Given the description of an element on the screen output the (x, y) to click on. 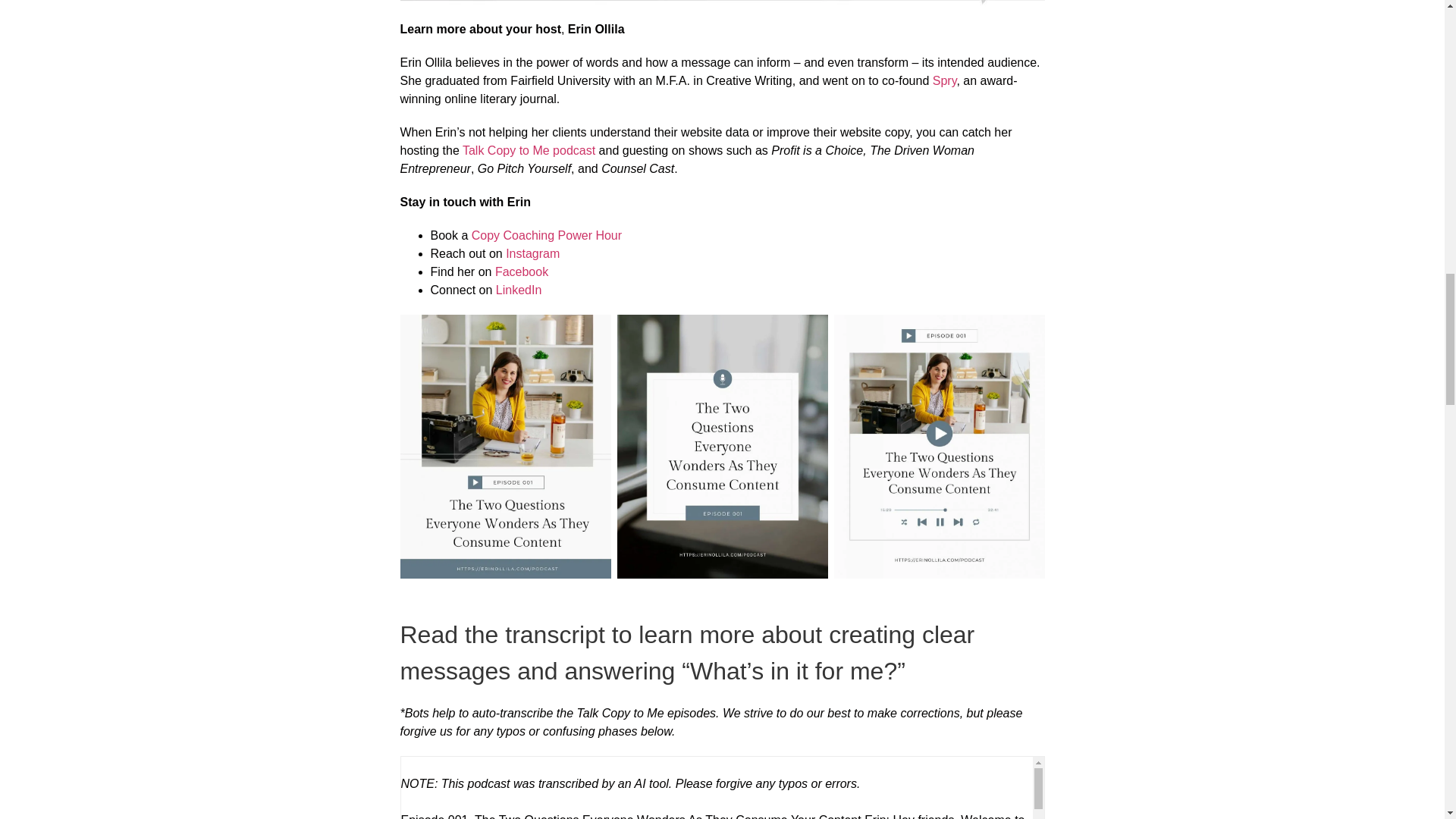
Spry (944, 80)
Facebook (521, 271)
Talk Copy to Me podcast (529, 150)
Copy Coaching Power Hour (546, 235)
Instagram (532, 253)
LinkedIn (518, 289)
